Given the description of an element on the screen output the (x, y) to click on. 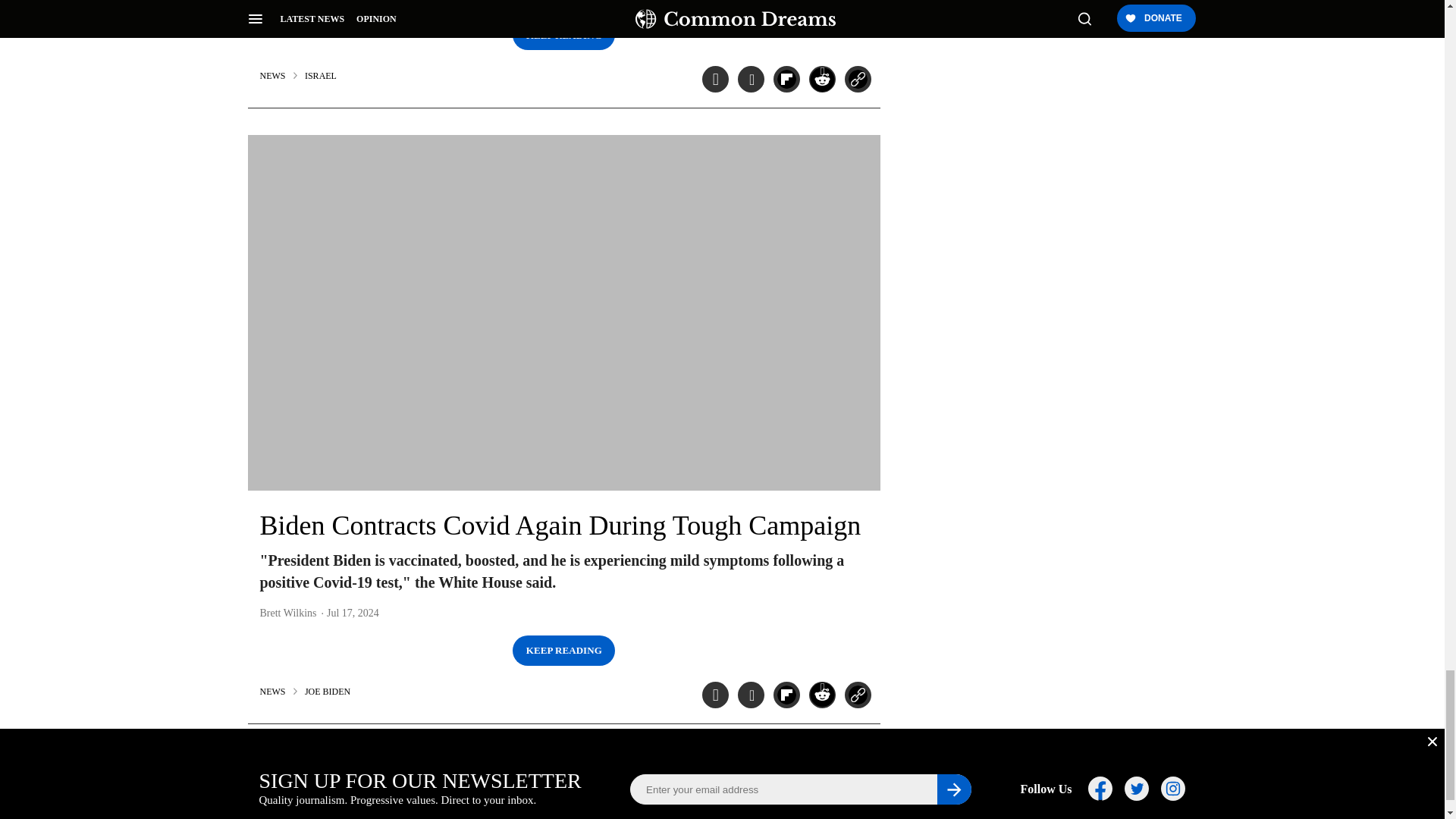
Copy this link to clipboard (857, 79)
Copy this link to clipboard (857, 694)
